Given the description of an element on the screen output the (x, y) to click on. 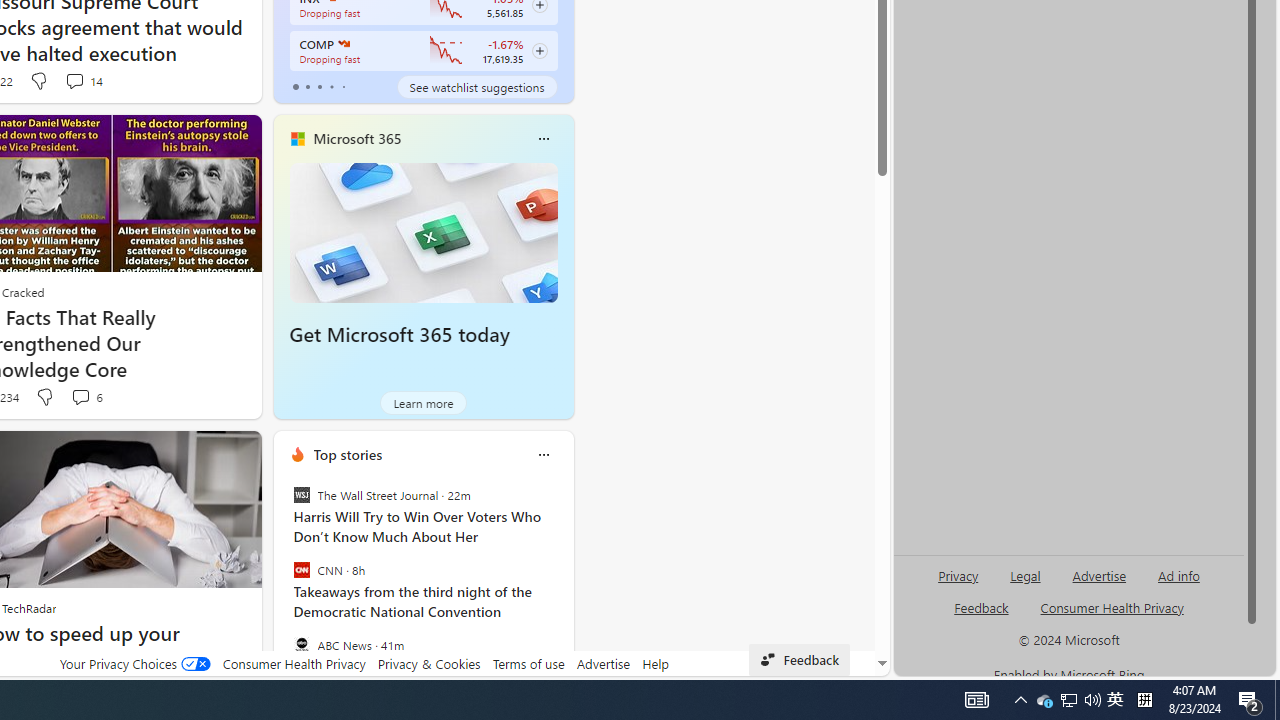
View comments 14 Comment (74, 80)
Your Privacy Choices (134, 663)
The Wall Street Journal (301, 494)
Get Microsoft 365 today (423, 232)
Class: follow-button  m (539, 51)
tab-3 (331, 86)
Learn more (423, 402)
